Given the description of an element on the screen output the (x, y) to click on. 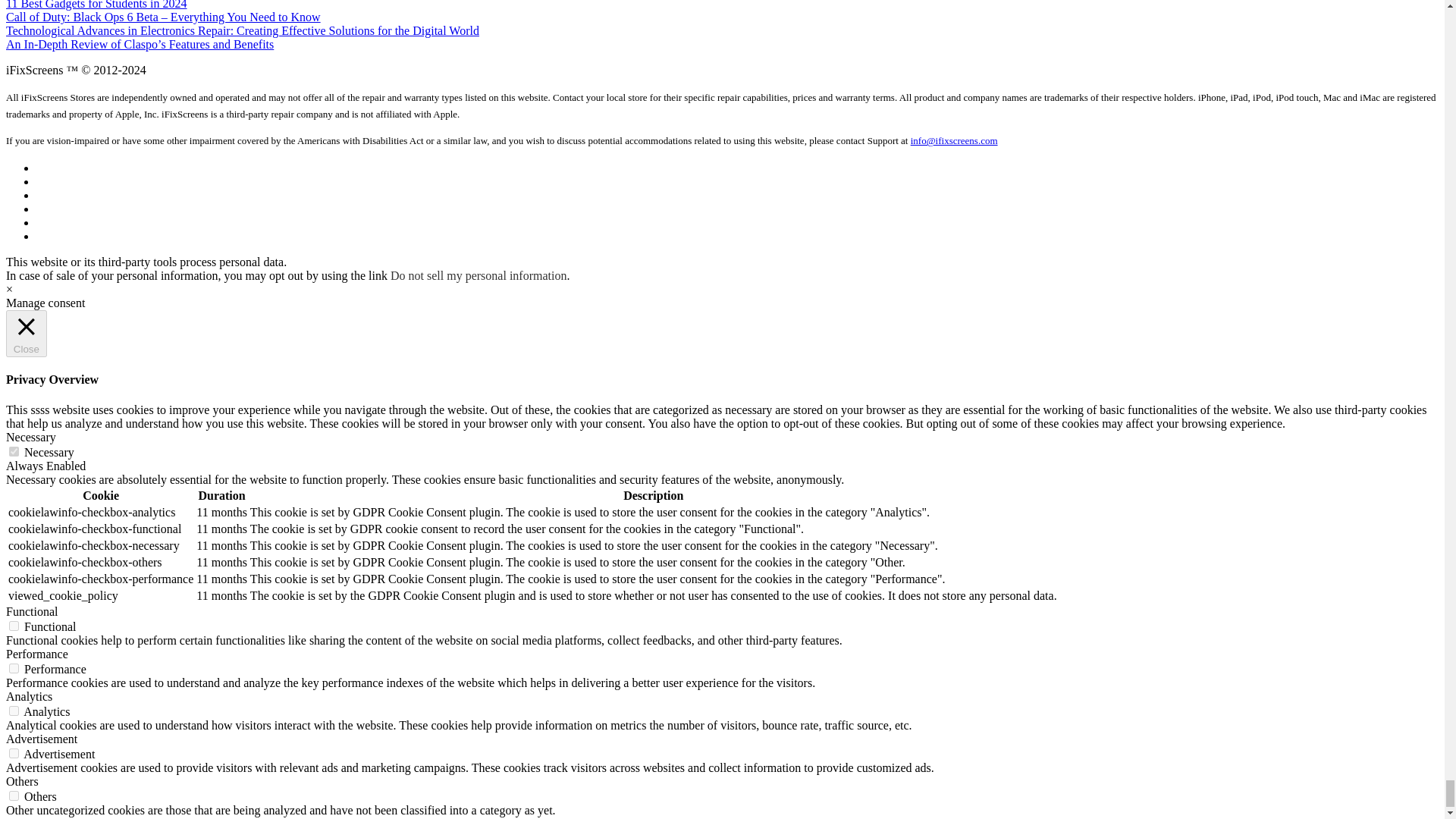
on (13, 753)
on (13, 625)
on (13, 451)
on (13, 710)
on (13, 668)
on (13, 795)
